Given the description of an element on the screen output the (x, y) to click on. 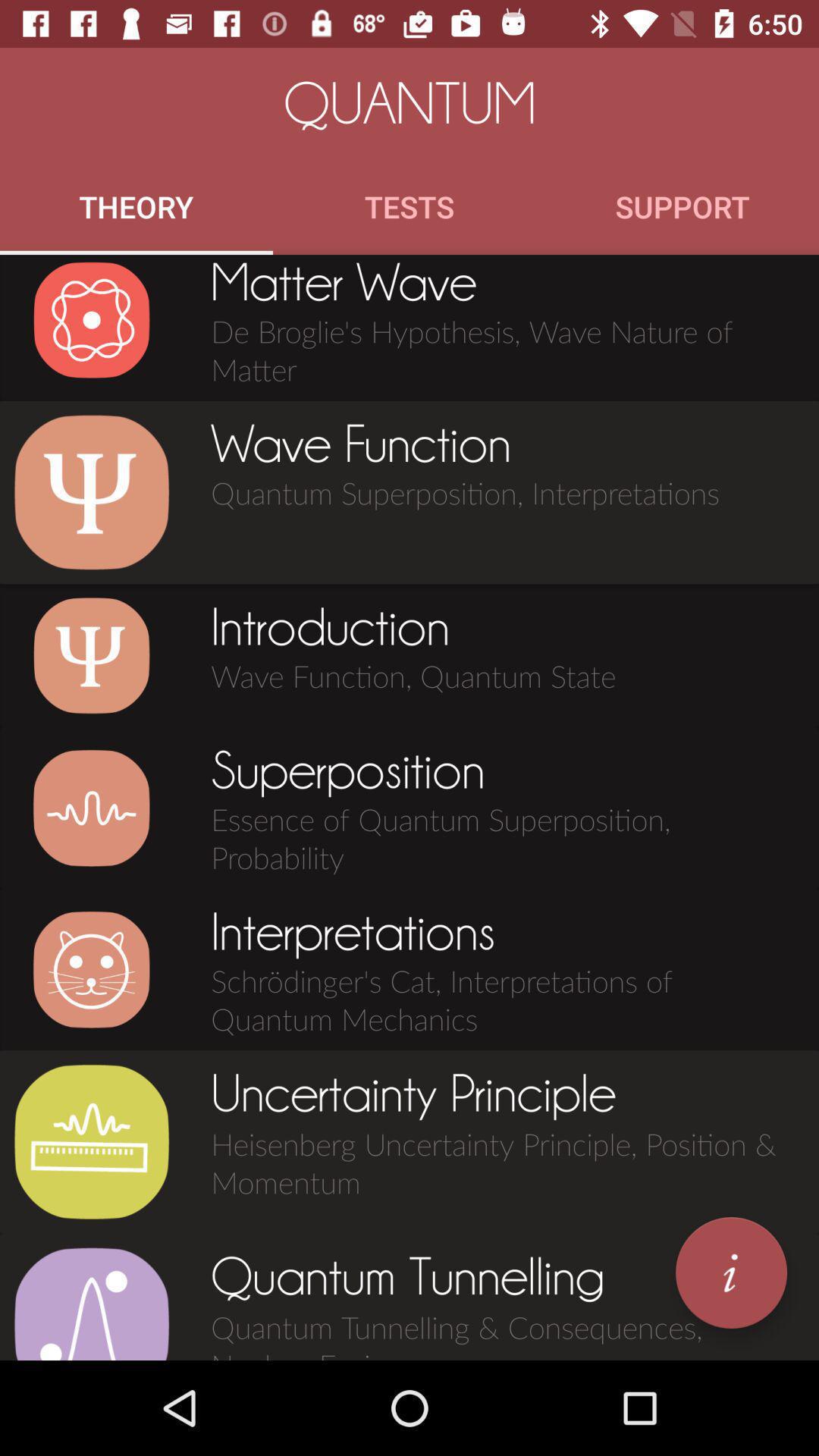
click icon below the theory (91, 319)
